Given the description of an element on the screen output the (x, y) to click on. 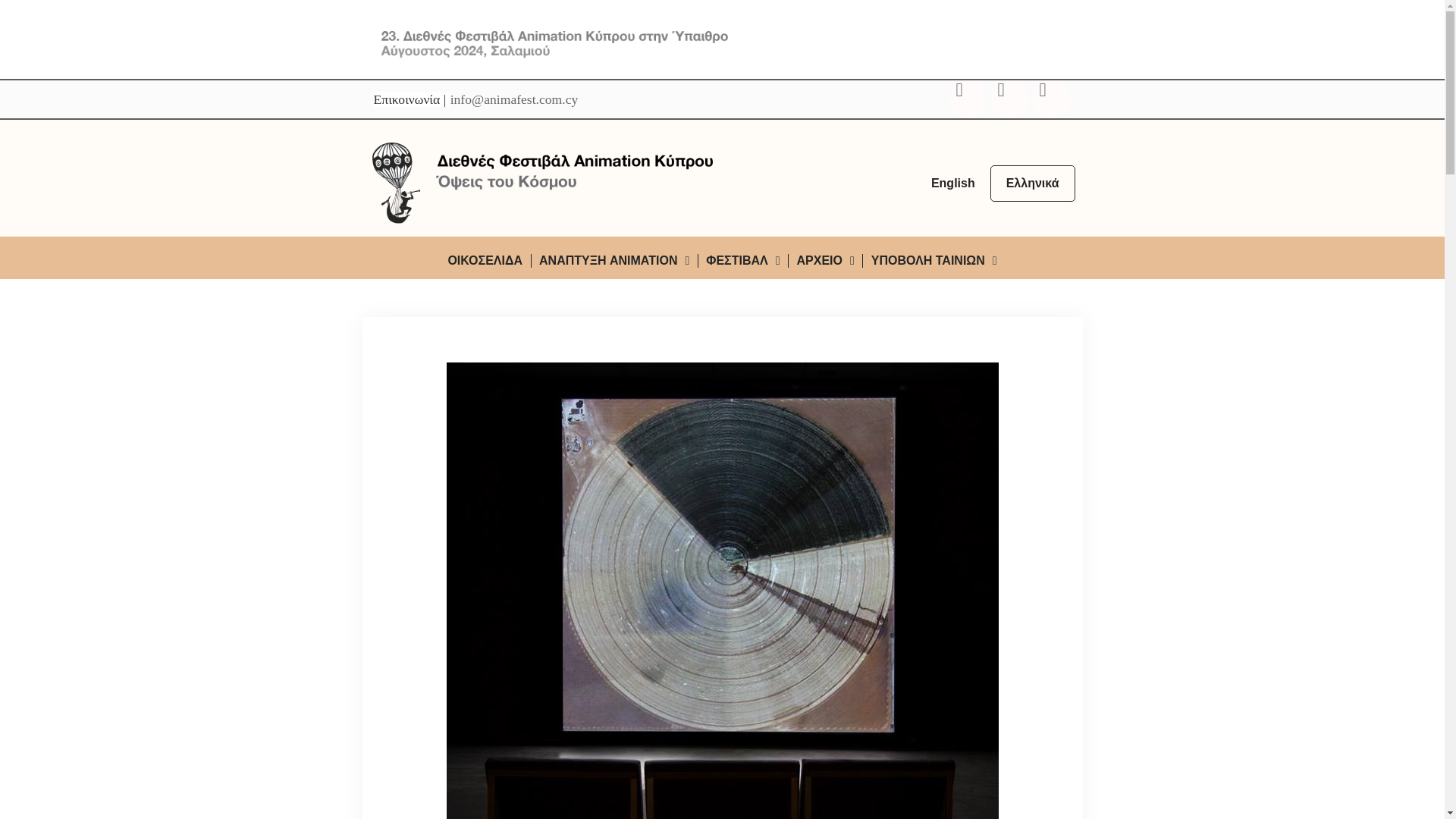
English (952, 183)
